Given the description of an element on the screen output the (x, y) to click on. 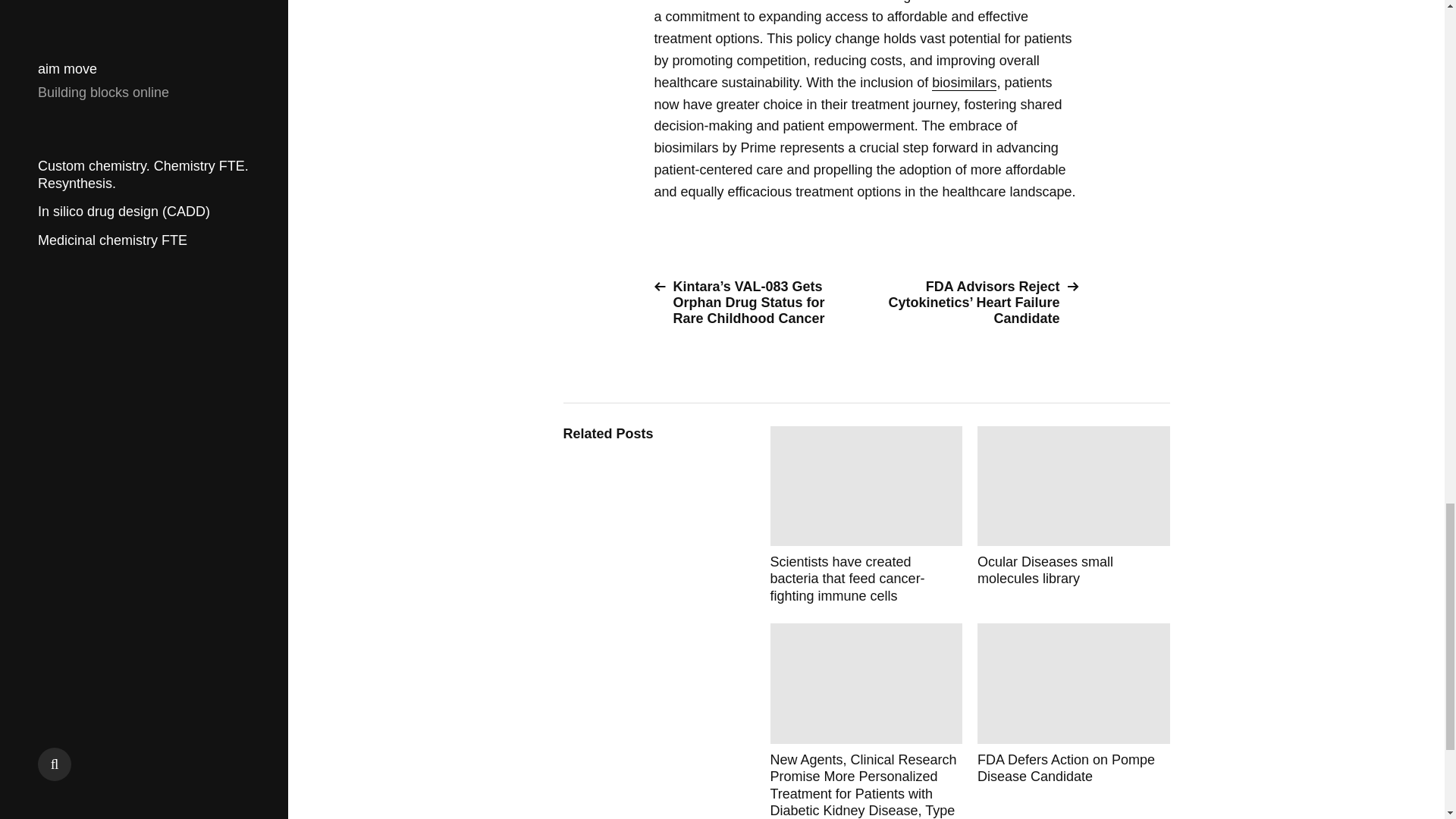
BRD4 Targeted Library (1073, 712)
Allosteric inhibitors (1073, 515)
biosimilars (963, 82)
